Given the description of an element on the screen output the (x, y) to click on. 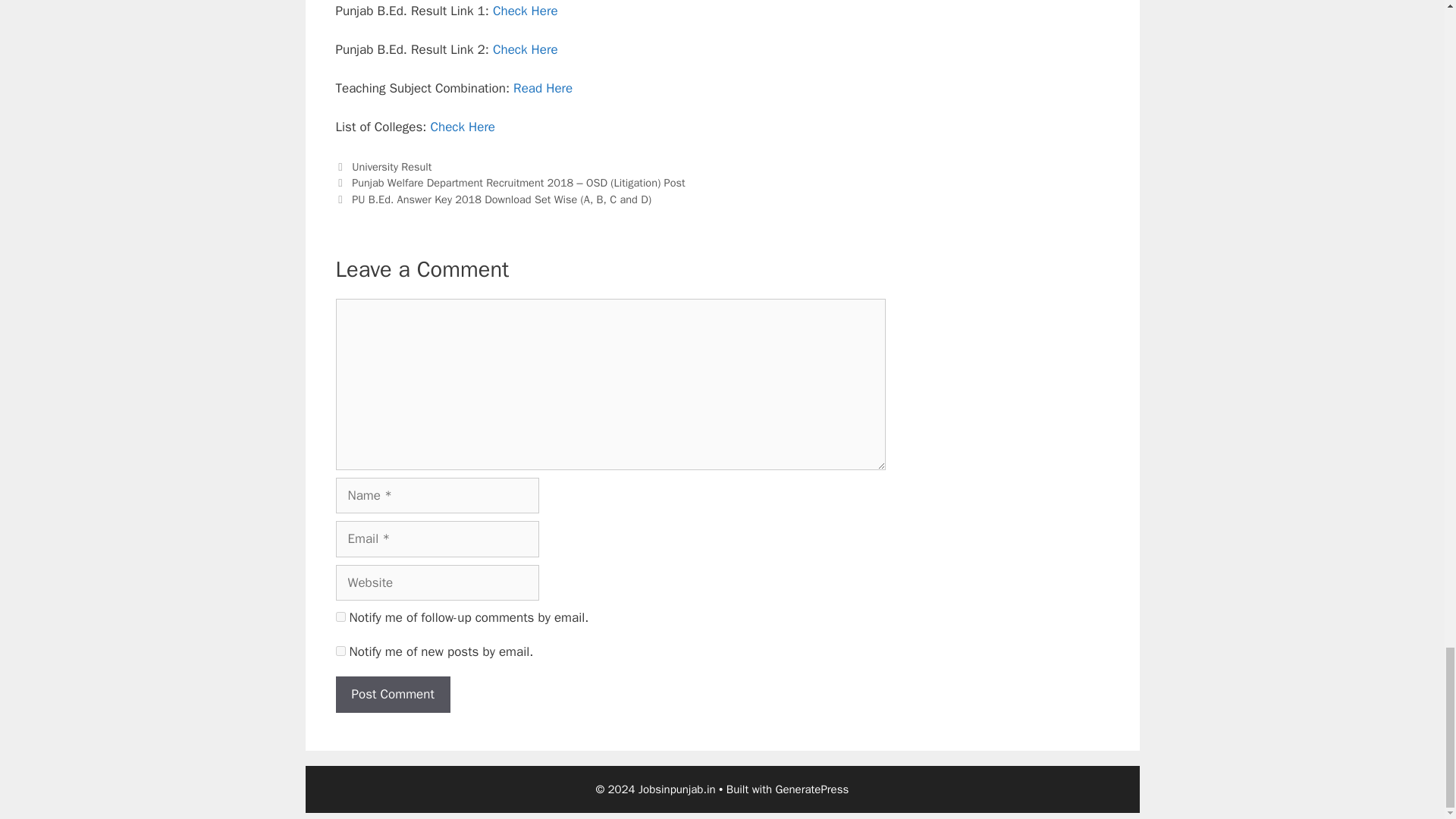
University Result (391, 166)
subscribe (339, 651)
Check Here (525, 49)
Post Comment (391, 694)
Read Here (542, 88)
subscribe (339, 616)
Check Here (525, 10)
Check Here (462, 126)
Post Comment (391, 694)
